Given the description of an element on the screen output the (x, y) to click on. 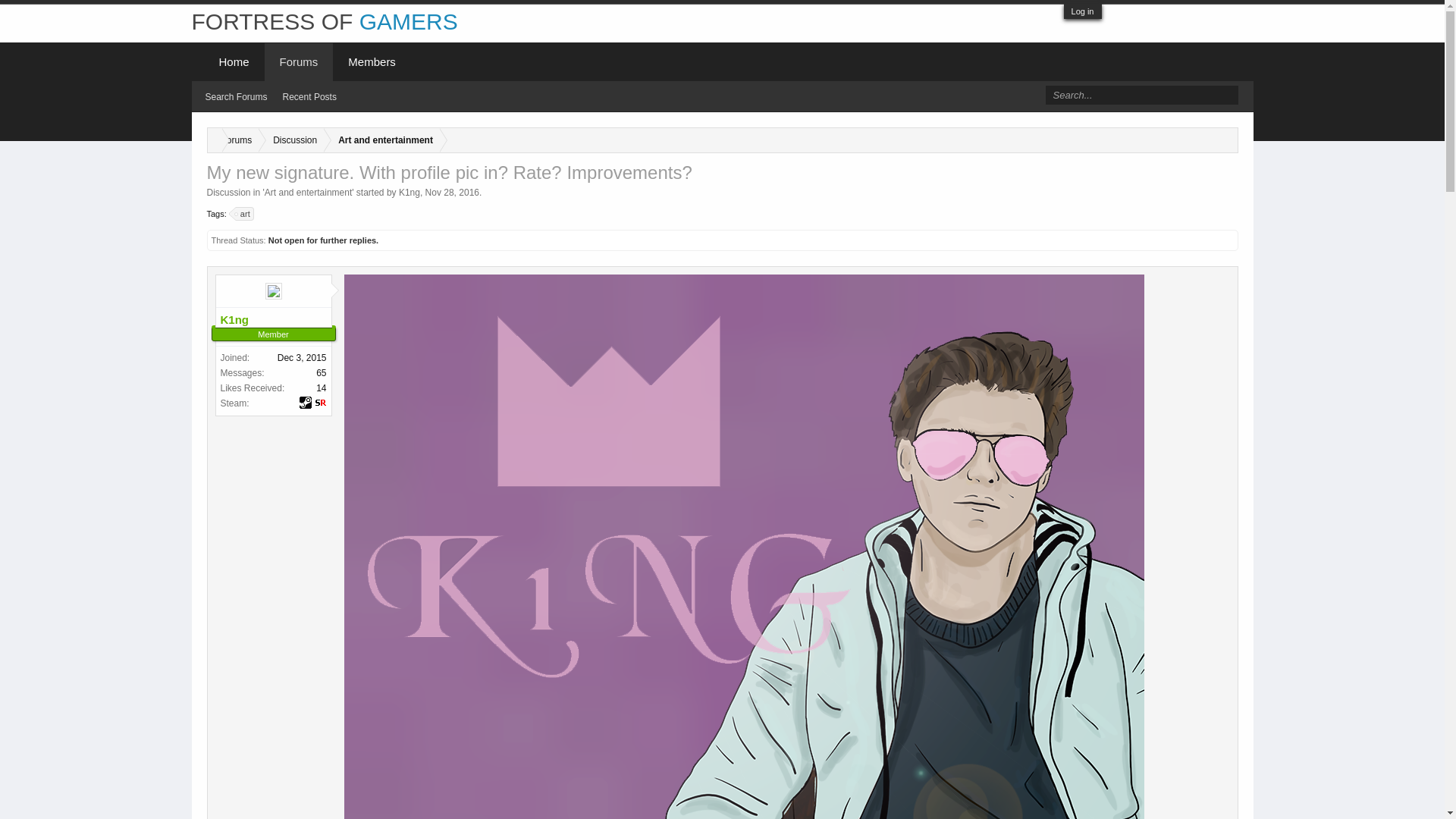
Nov 28, 2016 at 11:16 PM (452, 192)
Nov 28, 2016 (452, 192)
Forums (234, 140)
Discussion (291, 140)
Art and entertainment (382, 140)
Locked (1227, 240)
K1ng (272, 319)
65 (320, 372)
Open quick navigation (1225, 138)
K1ng (409, 192)
